Given the description of an element on the screen output the (x, y) to click on. 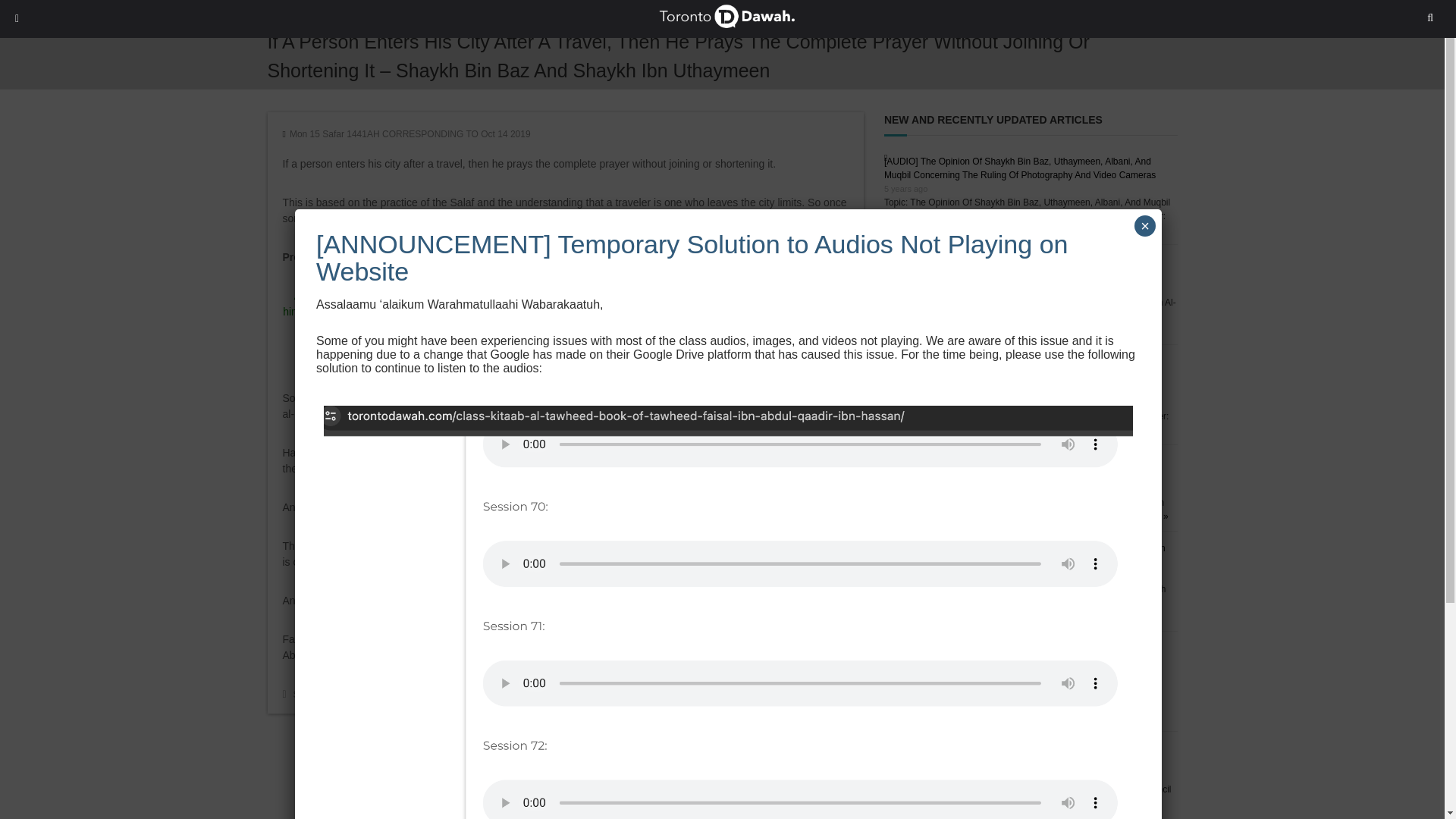
Shaykh Bin Baz (394, 694)
Shaykh Ibn Uthaymeen (479, 694)
Mon 15 Safar 1441AH CORRESPONDING TO Oct 14 2019 (410, 133)
